Given the description of an element on the screen output the (x, y) to click on. 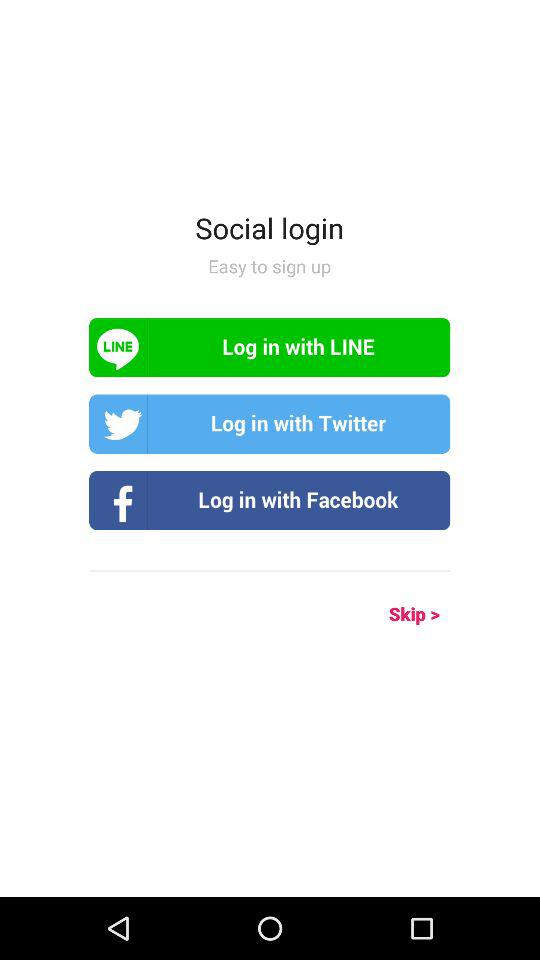
toggle log in with line (269, 347)
